Given the description of an element on the screen output the (x, y) to click on. 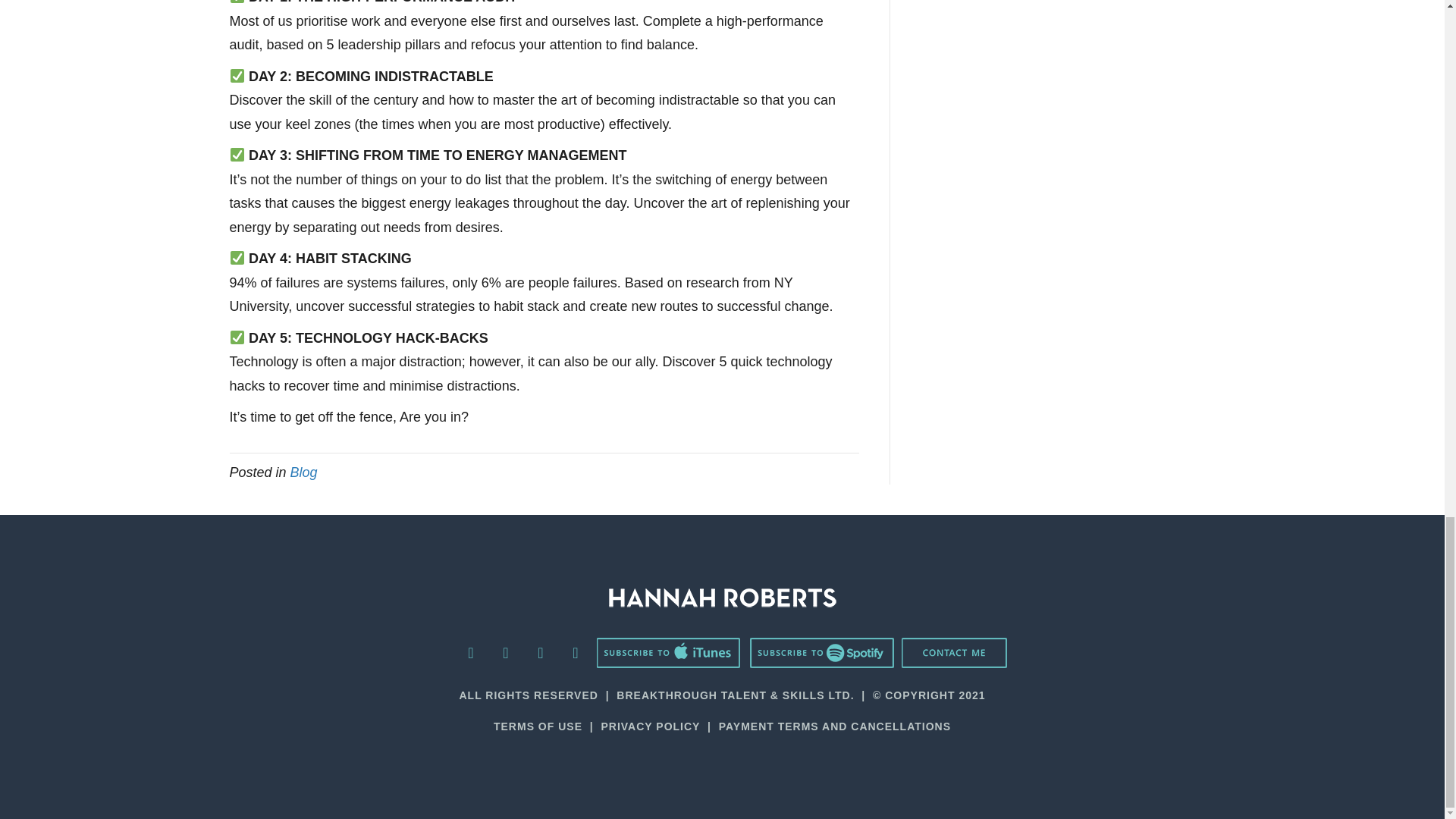
Blog (303, 472)
TERMS OF USE (537, 726)
comtact (954, 653)
itune (667, 653)
spotify (821, 653)
PAYMENT TERMS AND CANCELLATIONS (834, 726)
PRIVACY POLICY (649, 726)
footer-logo (721, 597)
